Given the description of an element on the screen output the (x, y) to click on. 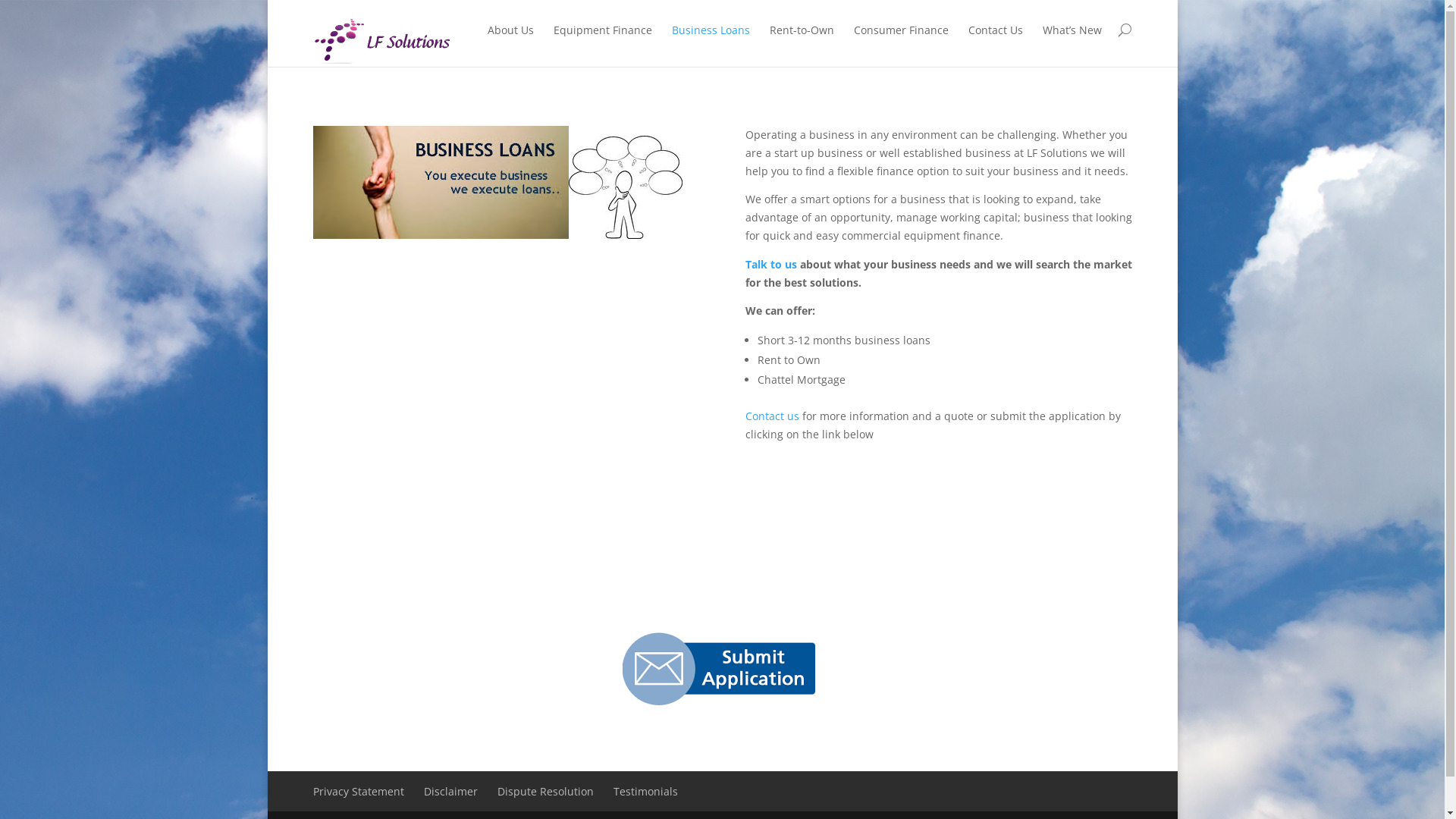
Disclaimer Element type: text (449, 791)
Privacy Statement Element type: text (357, 791)
Contact us Element type: text (772, 415)
Business Loans Element type: text (710, 40)
Contact Us Element type: text (994, 40)
About Us Element type: text (509, 40)
Rent-to-Own Element type: text (800, 40)
Dispute Resolution Element type: text (545, 791)
Equipment Finance Element type: text (602, 40)
Testimonials Element type: text (644, 791)
Consumer Finance Element type: text (900, 40)
Talk to us Element type: text (771, 264)
